Given the description of an element on the screen output the (x, y) to click on. 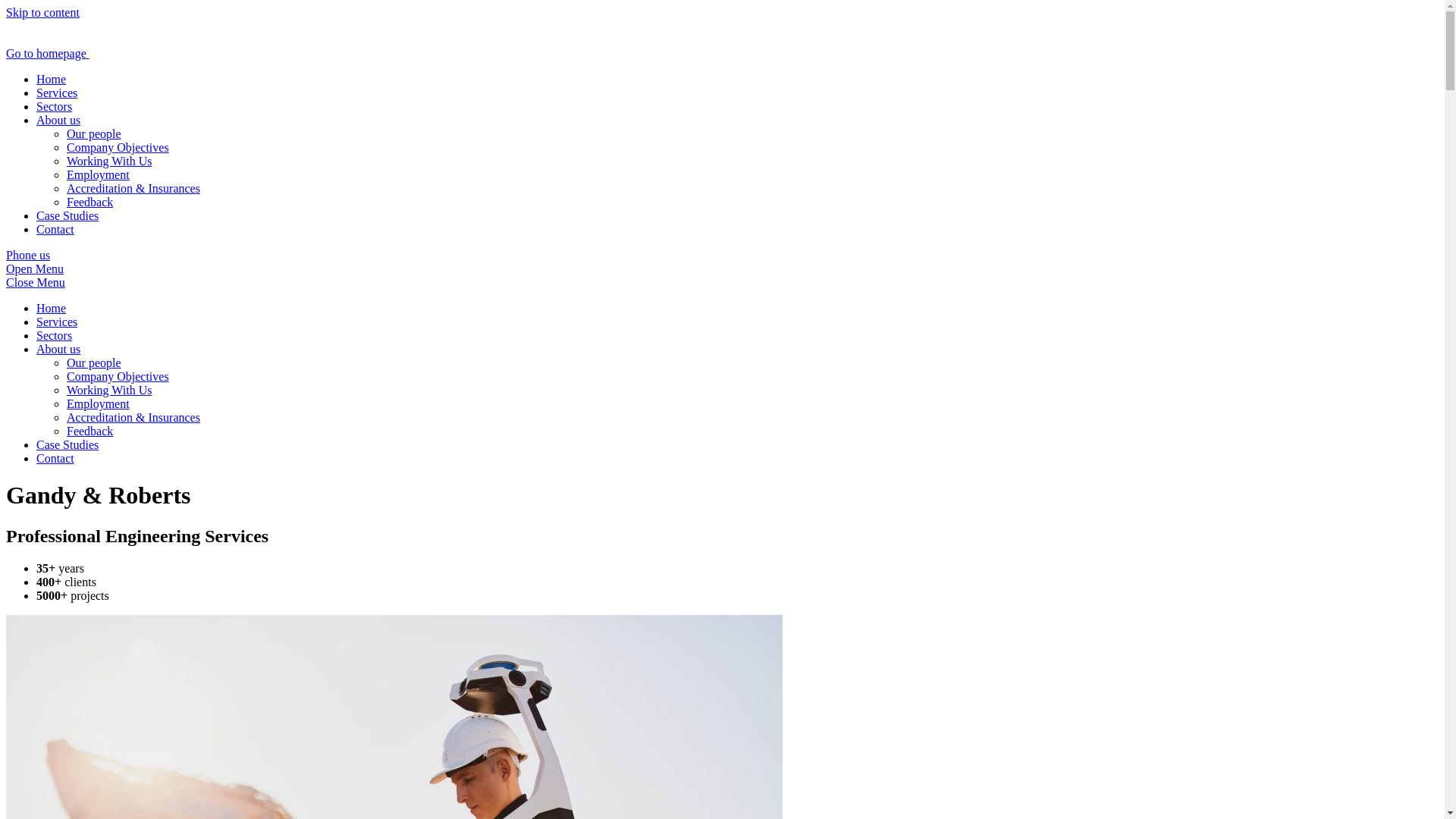
Home Element type: text (50, 307)
Accreditation & Insurances Element type: text (133, 188)
Phone us Element type: text (28, 254)
Our people Element type: text (93, 133)
Employment Element type: text (97, 174)
Accreditation & Insurances Element type: text (133, 417)
Contact Element type: text (55, 457)
Company Objectives Element type: text (117, 376)
Home Element type: text (50, 78)
Go to homepage Element type: text (105, 53)
Employment Element type: text (97, 403)
Services Element type: text (56, 321)
Services Element type: text (56, 92)
Case Studies Element type: text (67, 215)
Sectors Element type: text (54, 106)
Feedback Element type: text (89, 430)
Sectors Element type: text (54, 335)
Close Menu Element type: text (35, 282)
Our people Element type: text (93, 362)
Open Menu Element type: text (34, 268)
Working With Us Element type: text (108, 160)
Case Studies Element type: text (67, 444)
Contact Element type: text (55, 228)
Feedback Element type: text (89, 201)
About us Element type: text (58, 348)
Working With Us Element type: text (108, 389)
About us Element type: text (58, 119)
Skip to content Element type: text (42, 12)
Company Objectives Element type: text (117, 147)
